Given the description of an element on the screen output the (x, y) to click on. 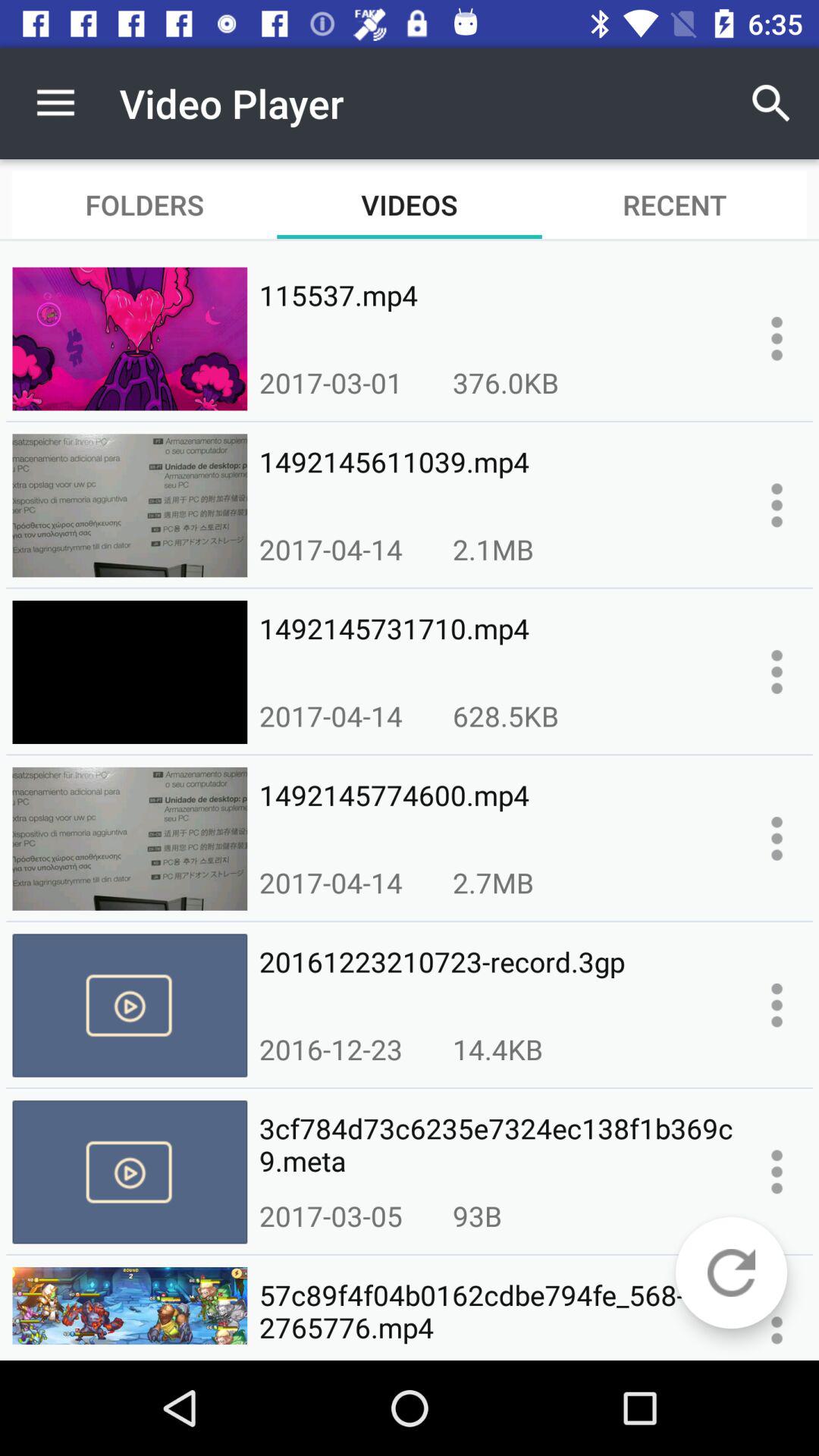
more (776, 838)
